Given the description of an element on the screen output the (x, y) to click on. 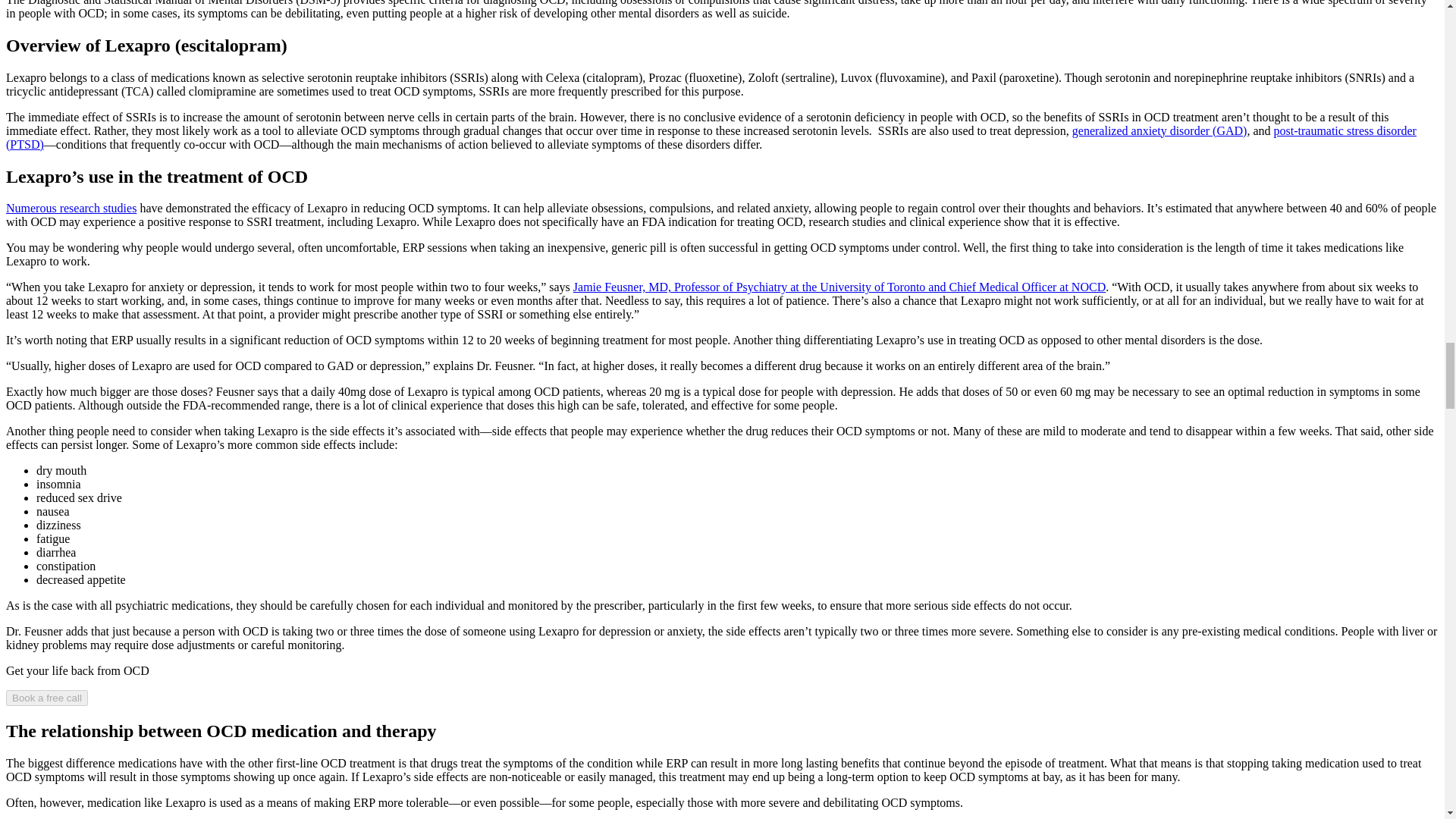
Book a free call (46, 697)
Numerous research studies (70, 207)
